Given the description of an element on the screen output the (x, y) to click on. 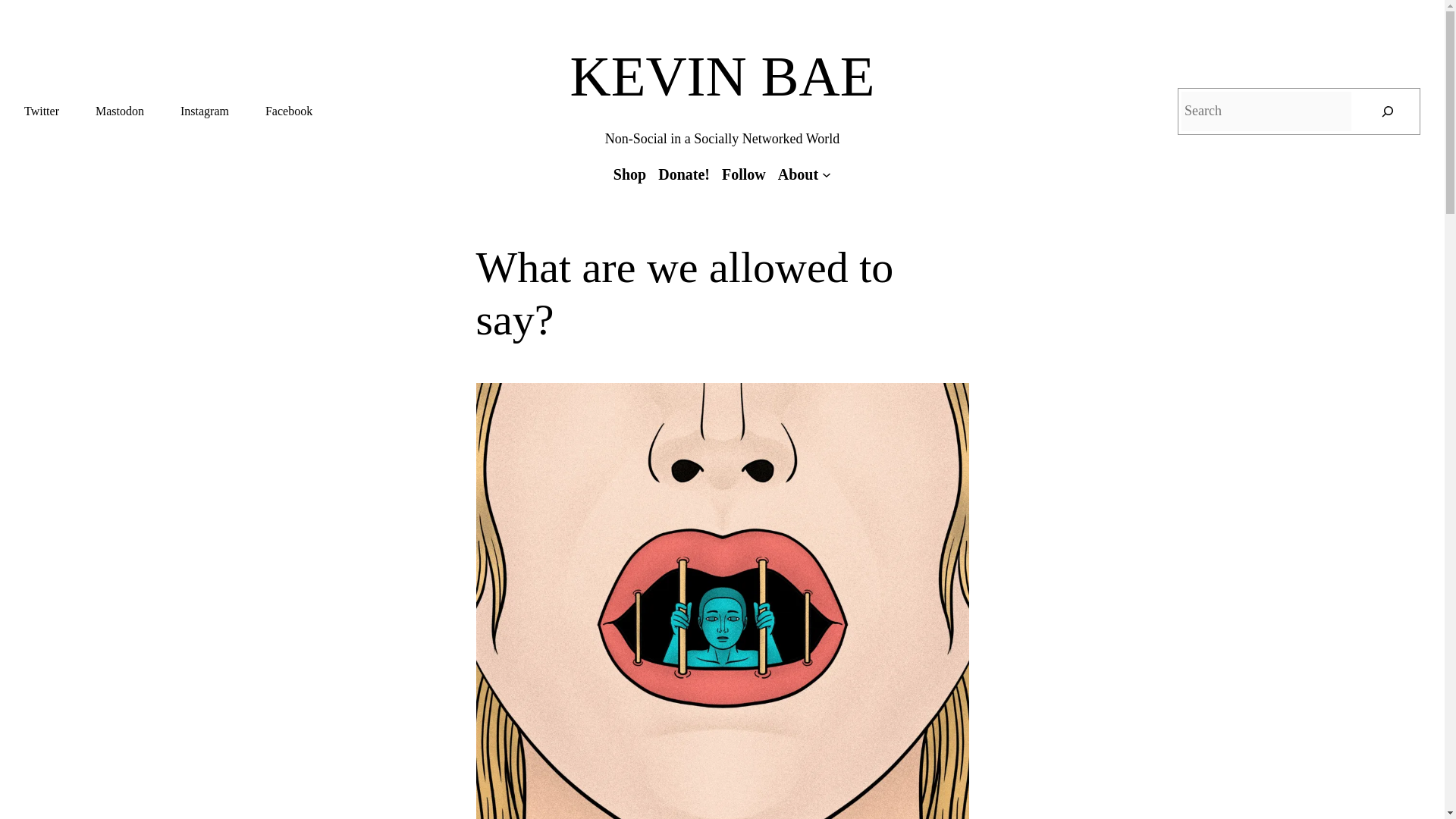
Instagram (204, 111)
Facebook (288, 111)
About (797, 174)
Mastodon (120, 111)
Shop (629, 174)
Donate! (684, 174)
Twitter (41, 111)
KEVIN BAE (722, 76)
Follow (743, 174)
